Given the description of an element on the screen output the (x, y) to click on. 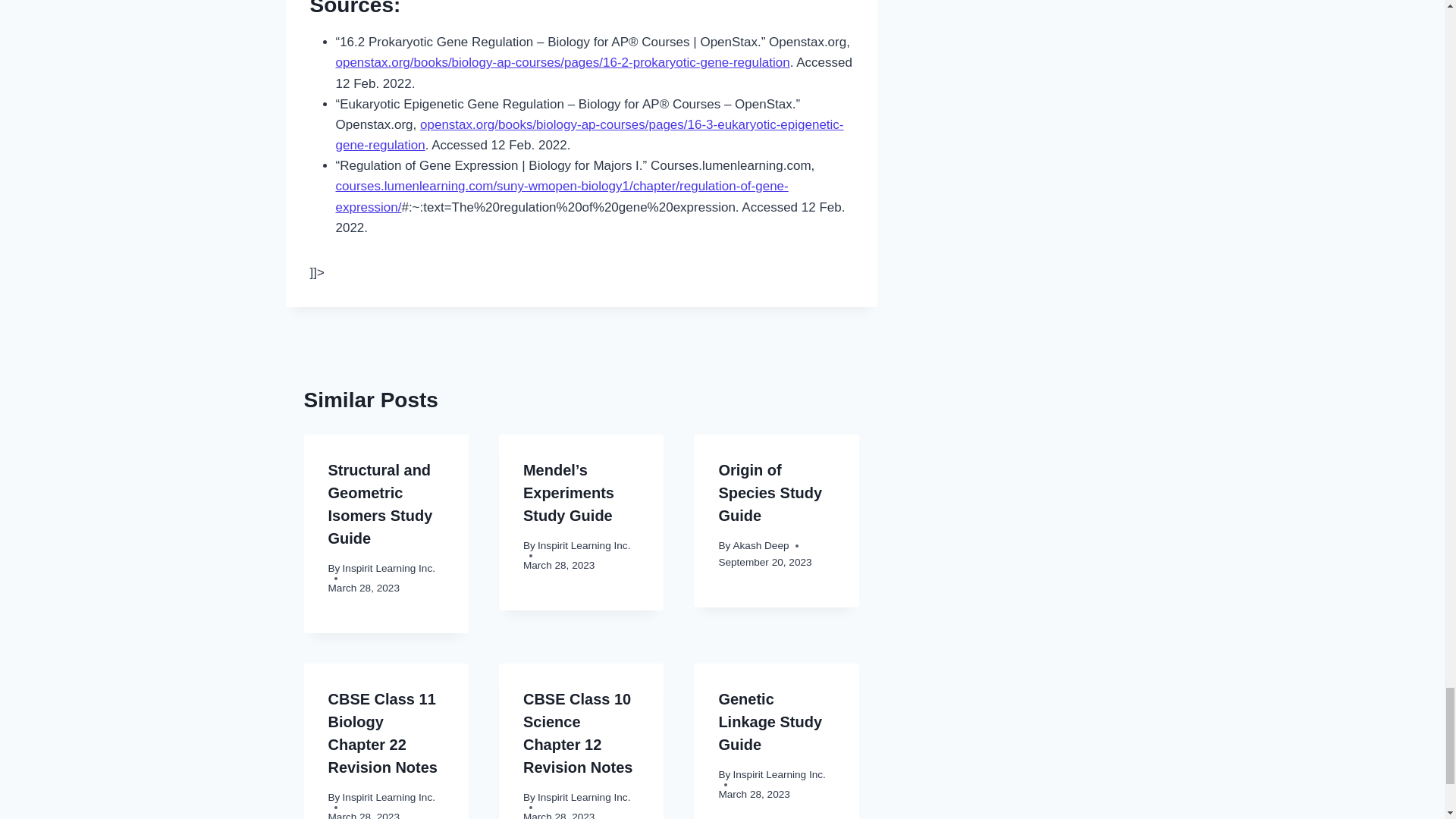
Inspirit Learning Inc. (388, 797)
Inspirit Learning Inc. (388, 568)
Origin of Species Study Guide (769, 492)
Akash Deep (760, 545)
CBSE Class 11 Biology Chapter 22 Revision Notes (381, 733)
Structural and Geometric Isomers Study Guide (379, 504)
Inspirit Learning Inc. (583, 545)
